Given the description of an element on the screen output the (x, y) to click on. 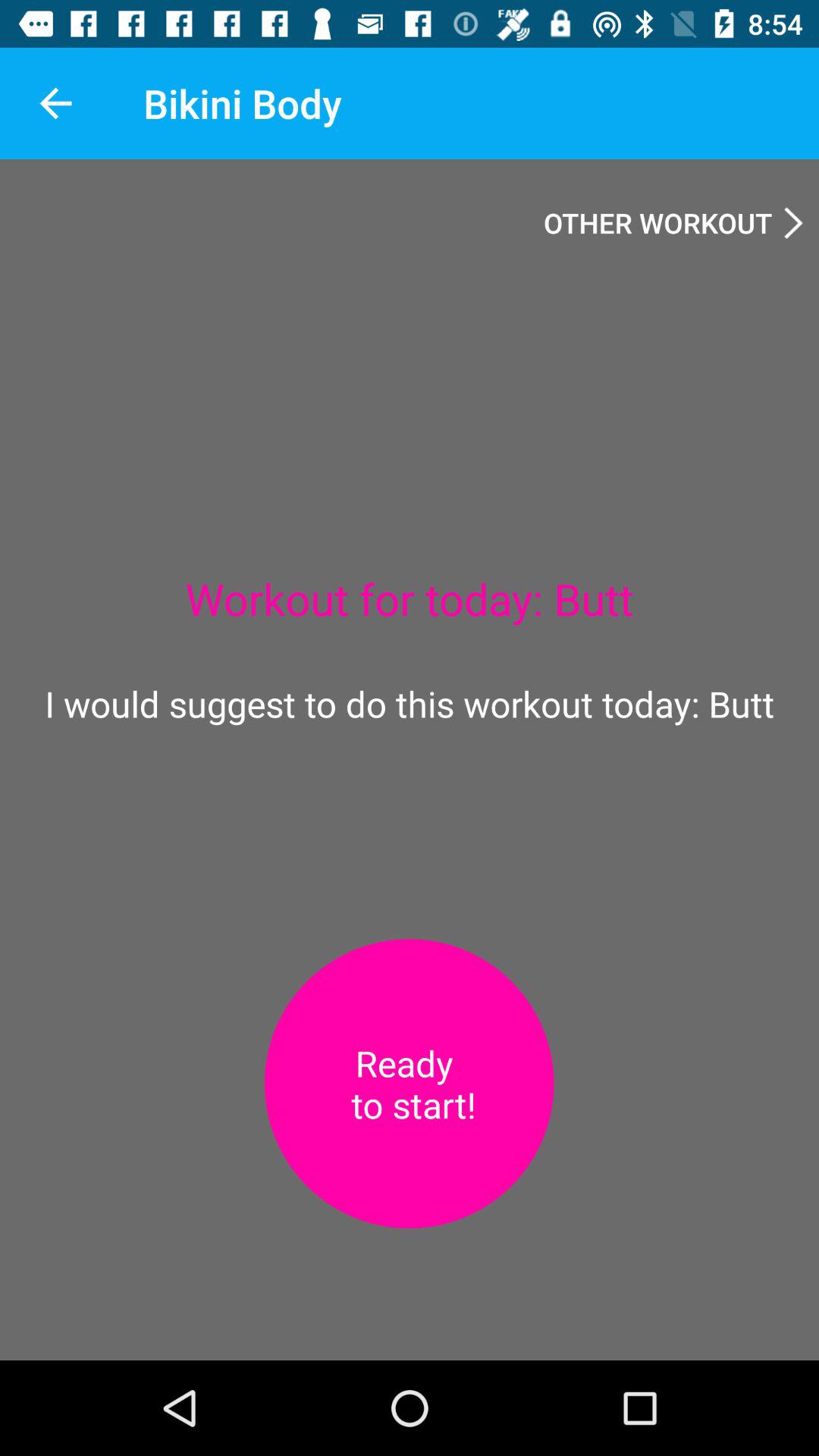
press to start (408, 1083)
